Given the description of an element on the screen output the (x, y) to click on. 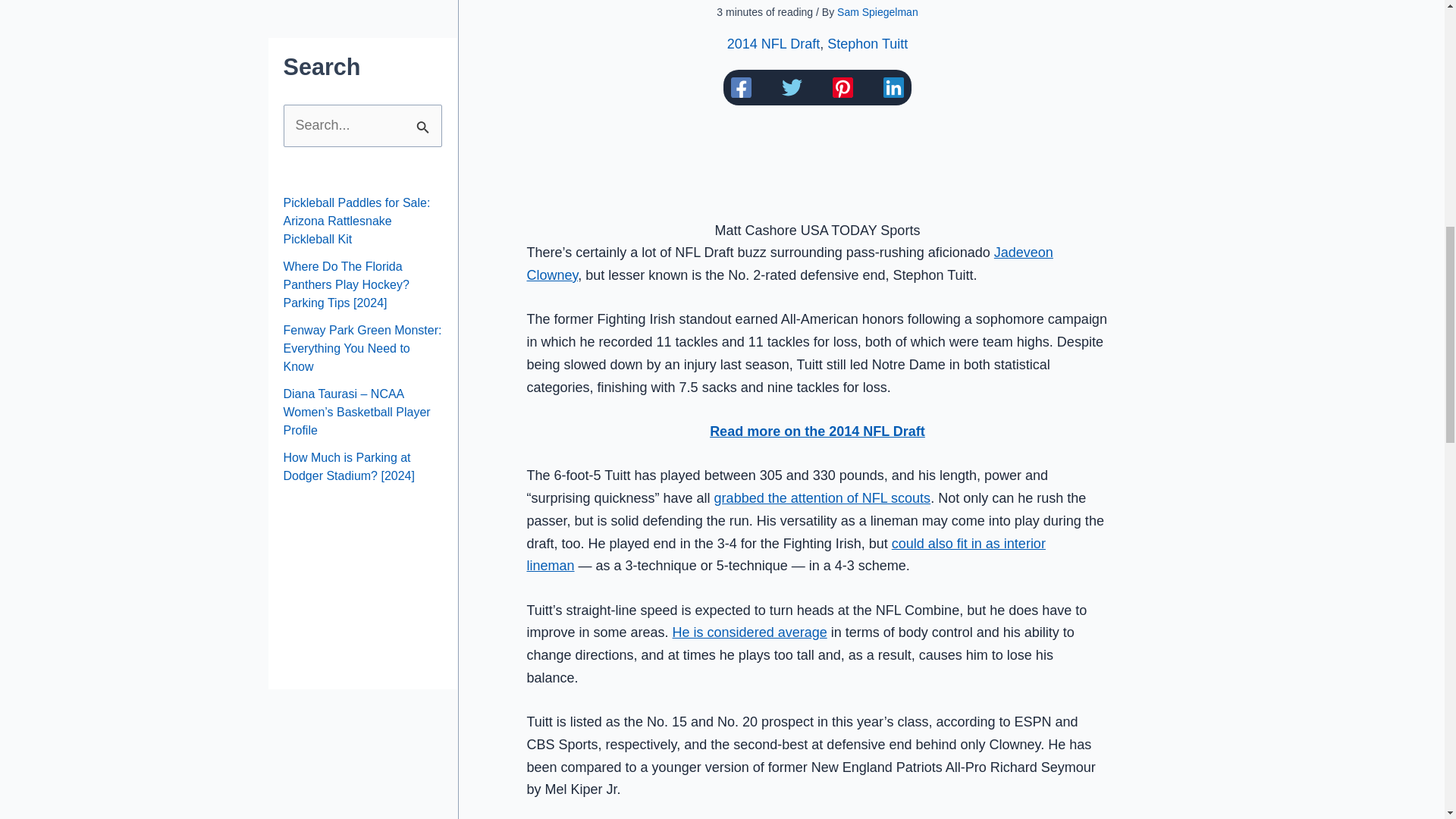
View all posts by Sam Spiegelman (877, 11)
NFL Draft Profile: Jadeveon Clowney (788, 263)
2014 NFL Draft Preview and Player Profiles (817, 431)
